Given the description of an element on the screen output the (x, y) to click on. 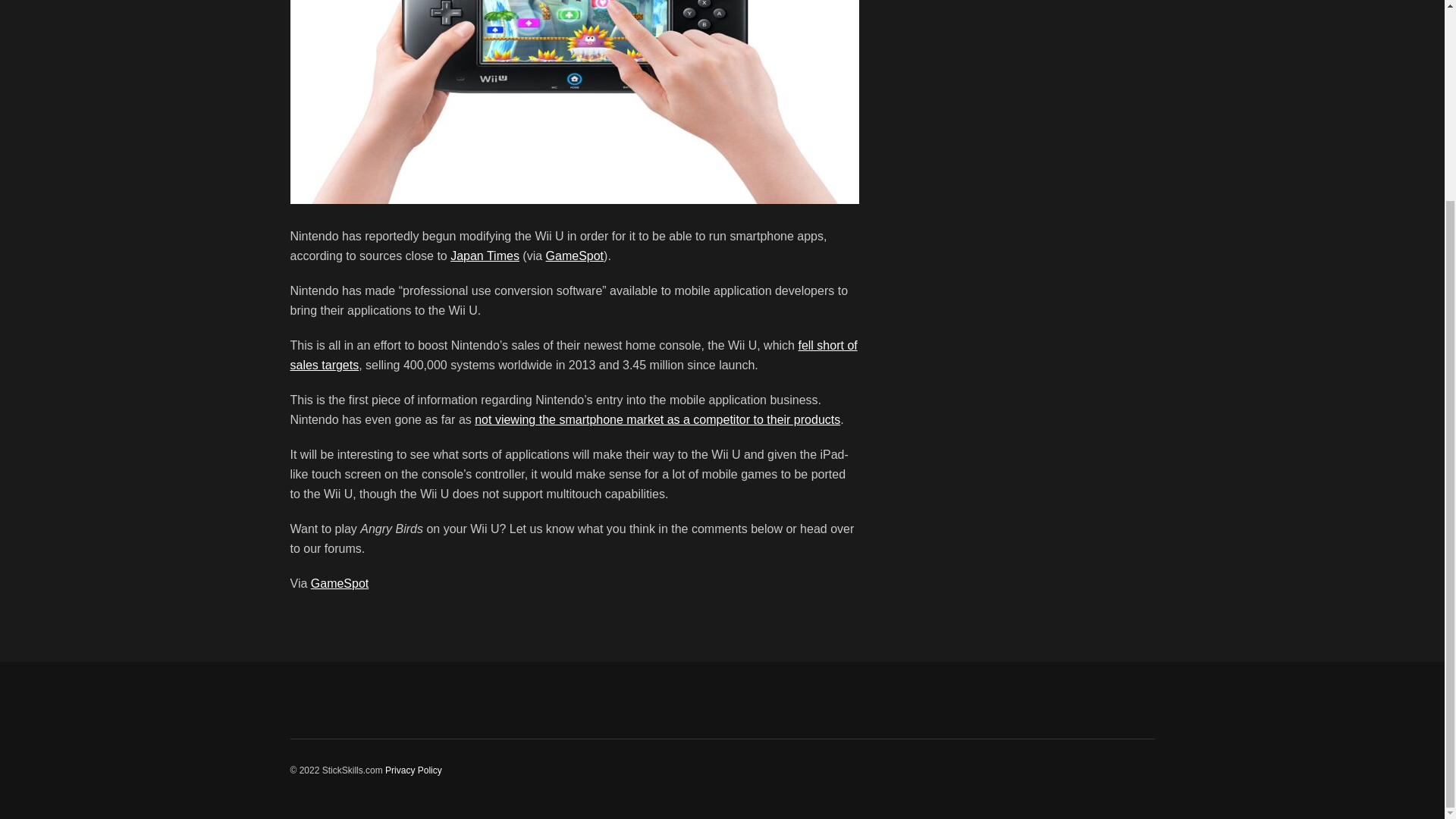
Privacy Policy (413, 769)
Japan Times (484, 255)
GameSpot (339, 583)
GameSpot (575, 255)
fell short of sales targets (573, 355)
